Given the description of an element on the screen output the (x, y) to click on. 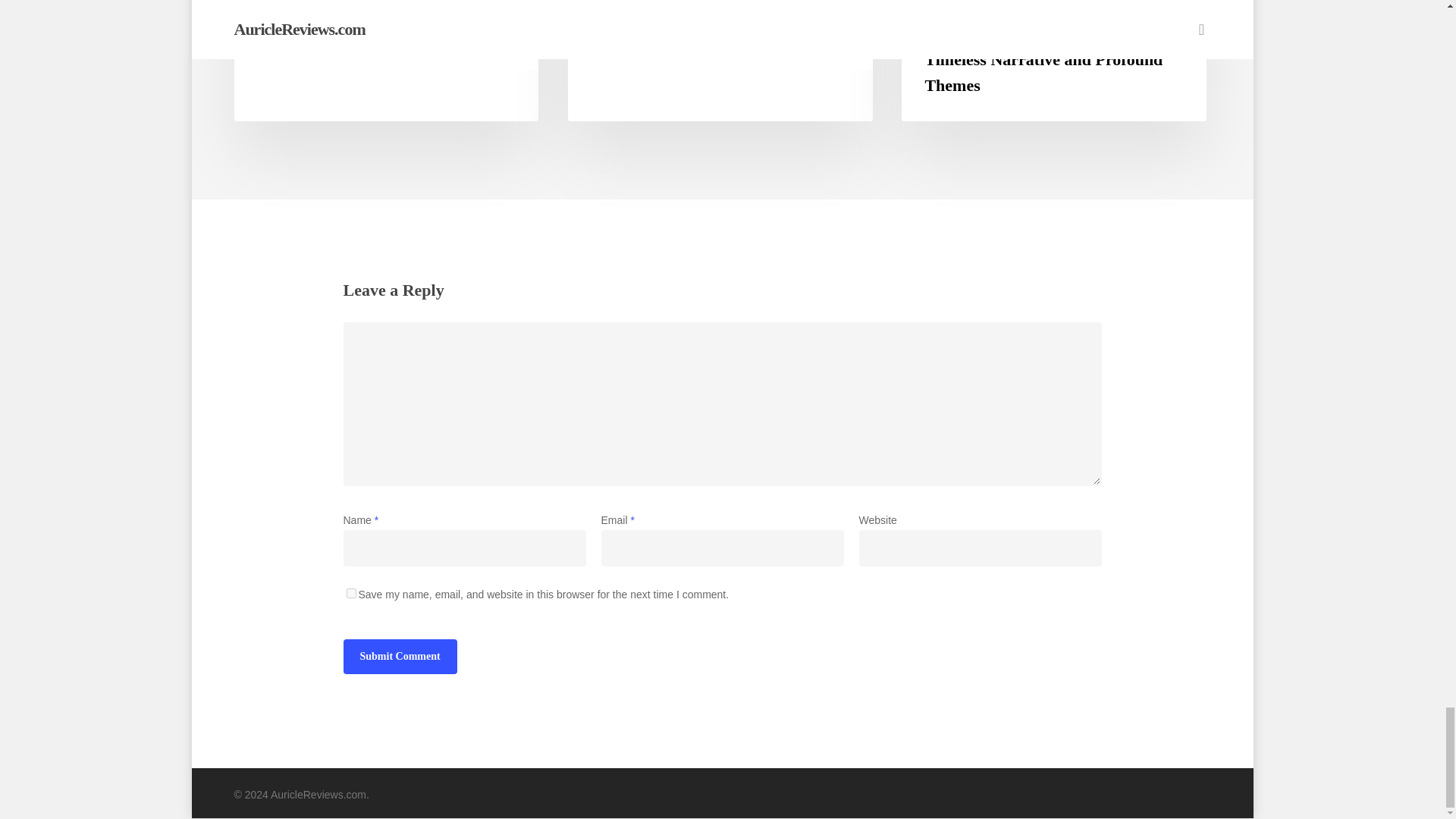
Submit Comment (399, 656)
yes (350, 593)
Submit Comment (399, 656)
